Given the description of an element on the screen output the (x, y) to click on. 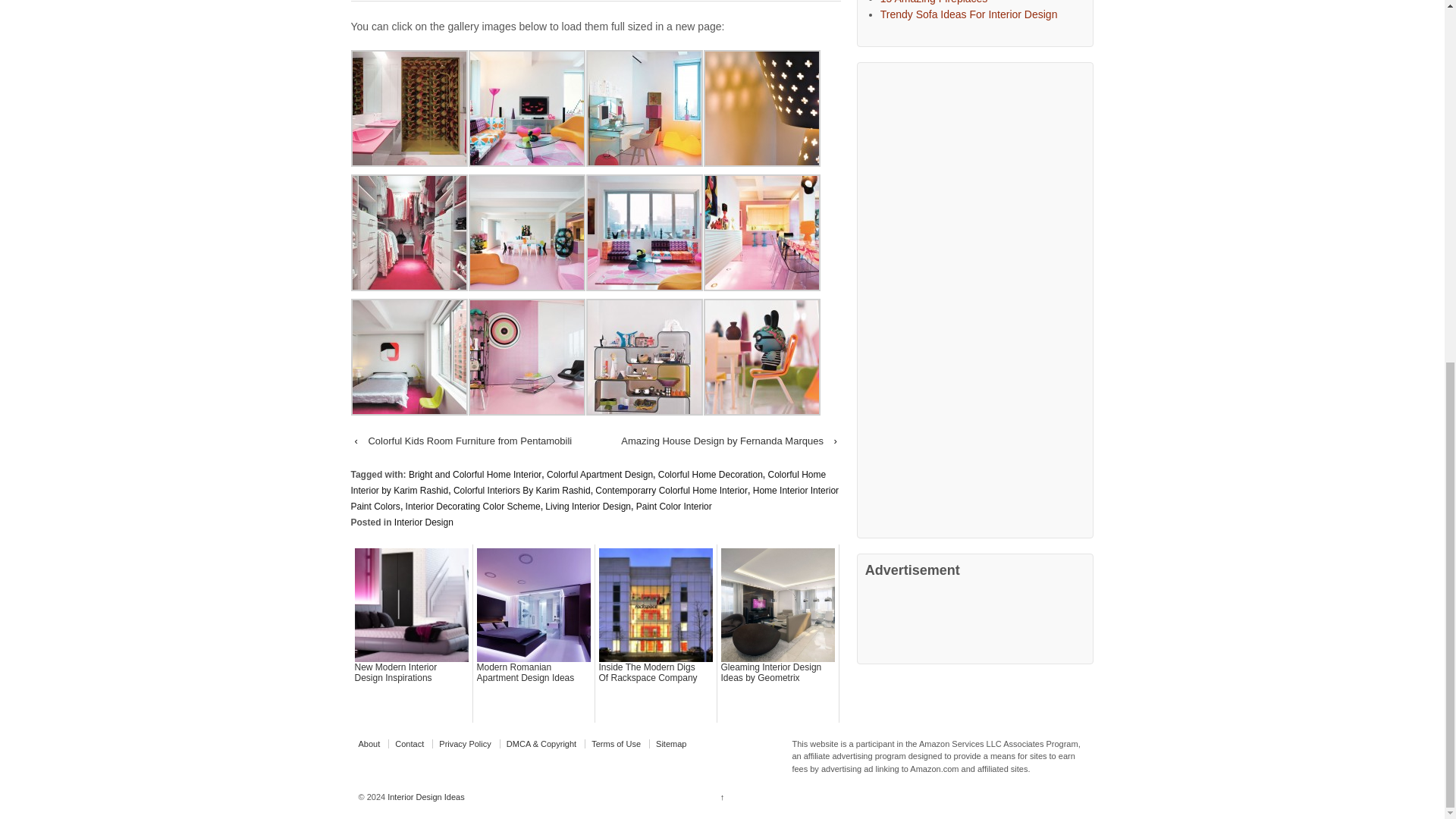
Amazing House Design by Fernanda Marques (721, 440)
Colorful Home Decoration (710, 474)
Colorful Kids Room Furniture from Pentamobili (469, 440)
Colorful Apartment Design (599, 474)
Bright and Colorful Home Interior (475, 474)
Advertisement (940, 617)
Interior Design Ideas (424, 796)
